Given the description of an element on the screen output the (x, y) to click on. 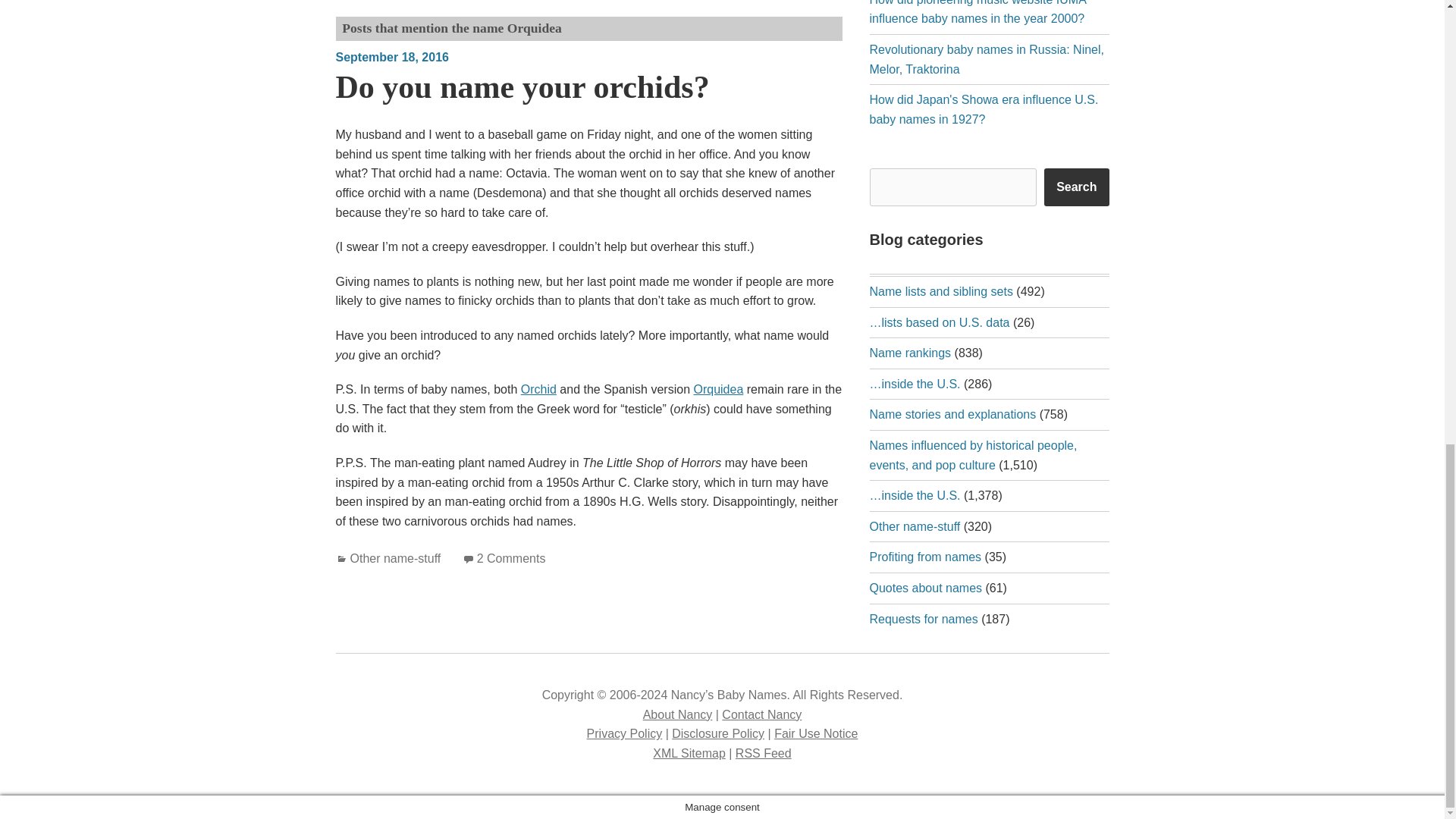
Orquidea (717, 389)
How did Japan's Showa era influence U.S. baby names in 1927? (983, 109)
Search (1075, 187)
Revolutionary baby names in Russia: Ninel, Melor, Traktorina (986, 59)
Do you name your orchids? (521, 86)
Orchid (538, 389)
Name lists and sibling sets (940, 291)
Name rankings (909, 352)
Name stories and explanations (952, 413)
